Given the description of an element on the screen output the (x, y) to click on. 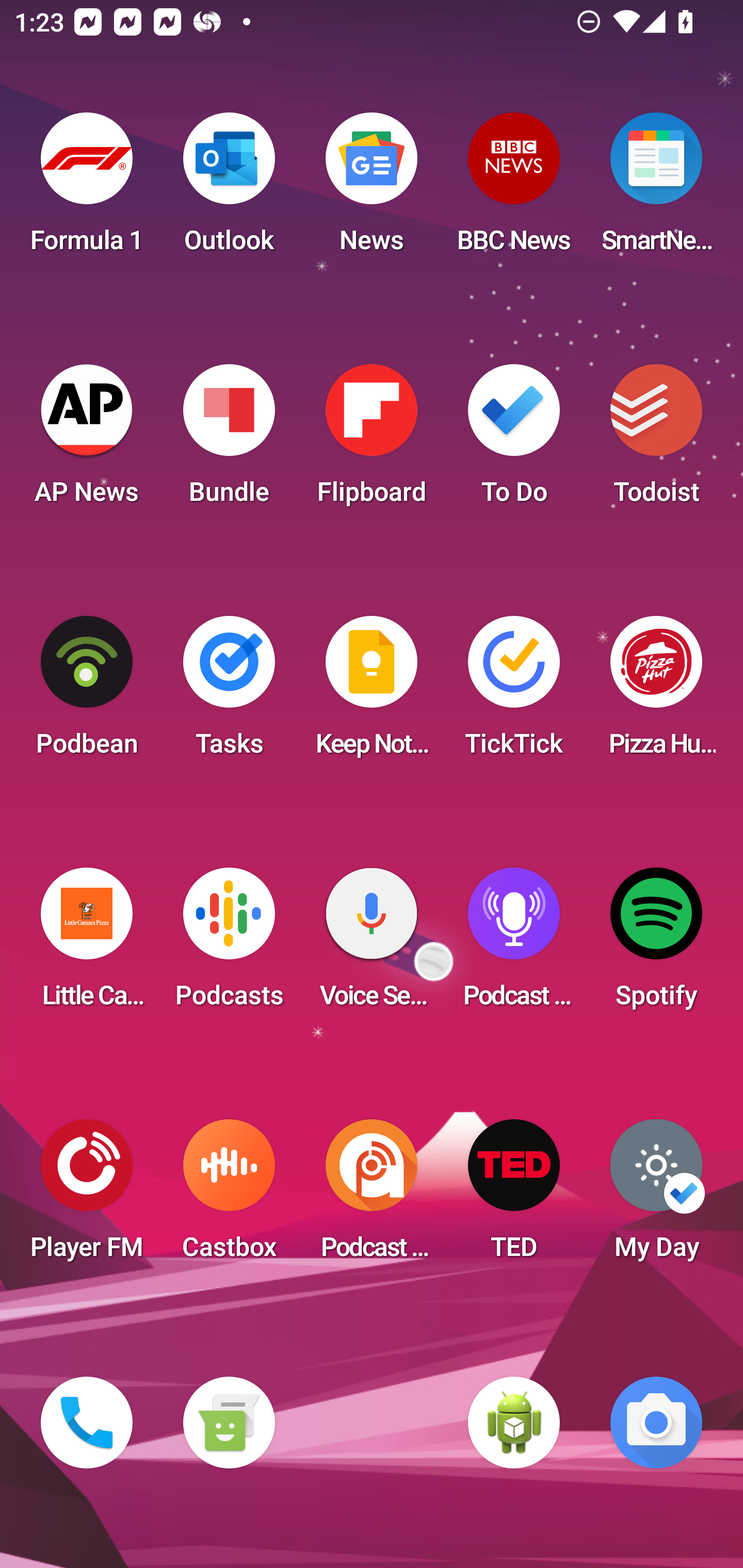
Formula 1 (86, 188)
Outlook (228, 188)
News (371, 188)
BBC News (513, 188)
SmartNews (656, 188)
AP News (86, 440)
Bundle (228, 440)
Flipboard (371, 440)
To Do (513, 440)
Todoist (656, 440)
Podbean (86, 692)
Tasks (228, 692)
Keep Notes (371, 692)
TickTick (513, 692)
Pizza Hut HK & Macau (656, 692)
Little Caesars Pizza (86, 943)
Podcasts (228, 943)
Voice Search (371, 943)
Podcast Player (513, 943)
Spotify (656, 943)
Player FM (86, 1195)
Castbox (228, 1195)
Podcast Addict (371, 1195)
TED (513, 1195)
My Day (656, 1195)
Phone (86, 1422)
Messaging (228, 1422)
WebView Browser Tester (513, 1422)
Camera (656, 1422)
